Given the description of an element on the screen output the (x, y) to click on. 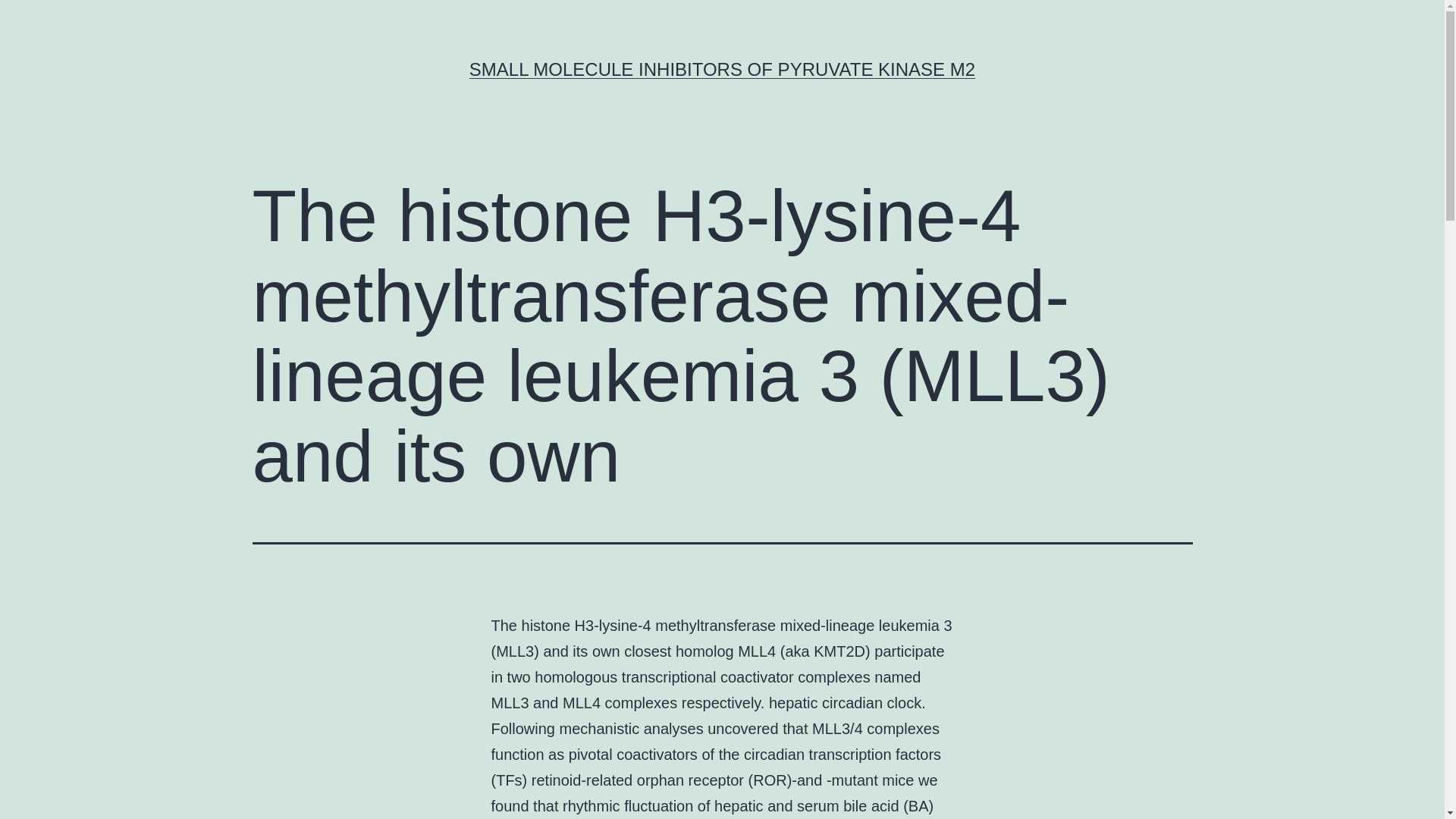
SMALL MOLECULE INHIBITORS OF PYRUVATE KINASE M2 (721, 68)
